Given the description of an element on the screen output the (x, y) to click on. 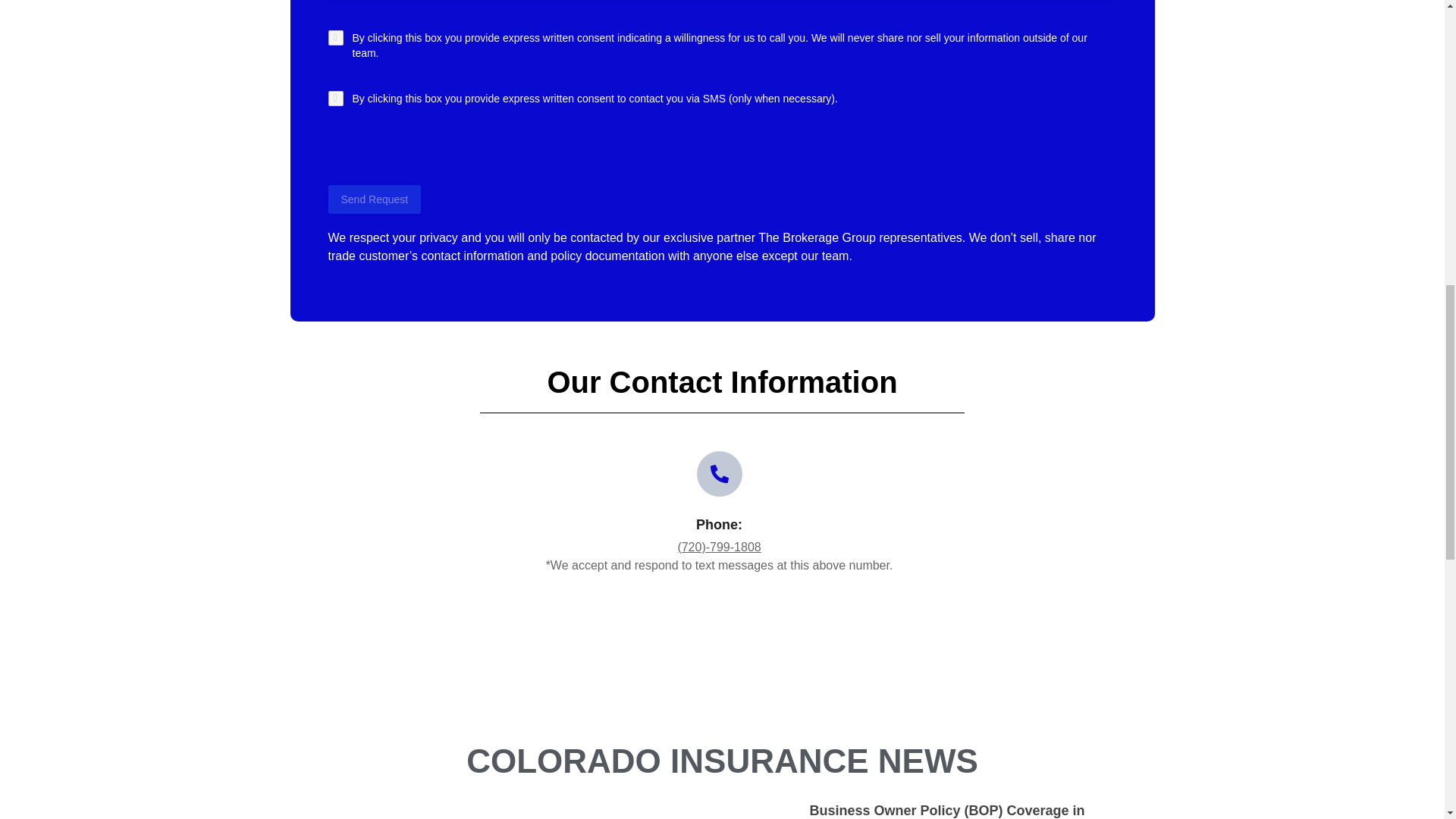
Send Request (373, 199)
